Given the description of an element on the screen output the (x, y) to click on. 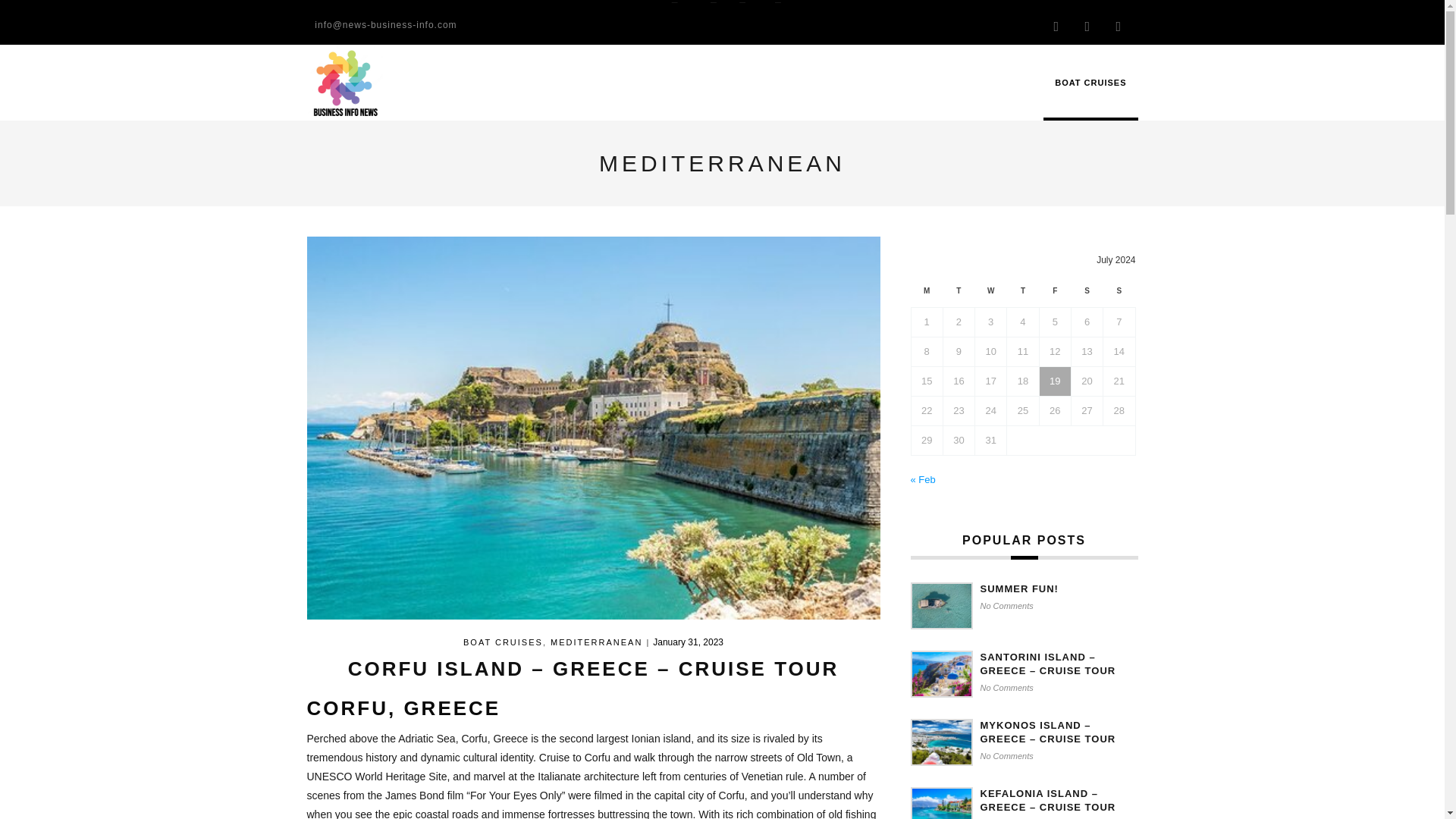
TRAVEL (759, 3)
CARS (727, 3)
BOAT CRUISES (1090, 82)
TECH (792, 3)
Monday (926, 293)
Thursday (1023, 293)
BOAT CRUISES (503, 642)
January 31, 2023 (687, 642)
Friday (1054, 293)
MEDITERRANEAN (596, 642)
HOTELS (655, 3)
Tuesday (958, 293)
Corfu Island - Greece - Cruise Tour (592, 426)
Wednesday (991, 293)
Boat Cruises (1090, 82)
